Given the description of an element on the screen output the (x, y) to click on. 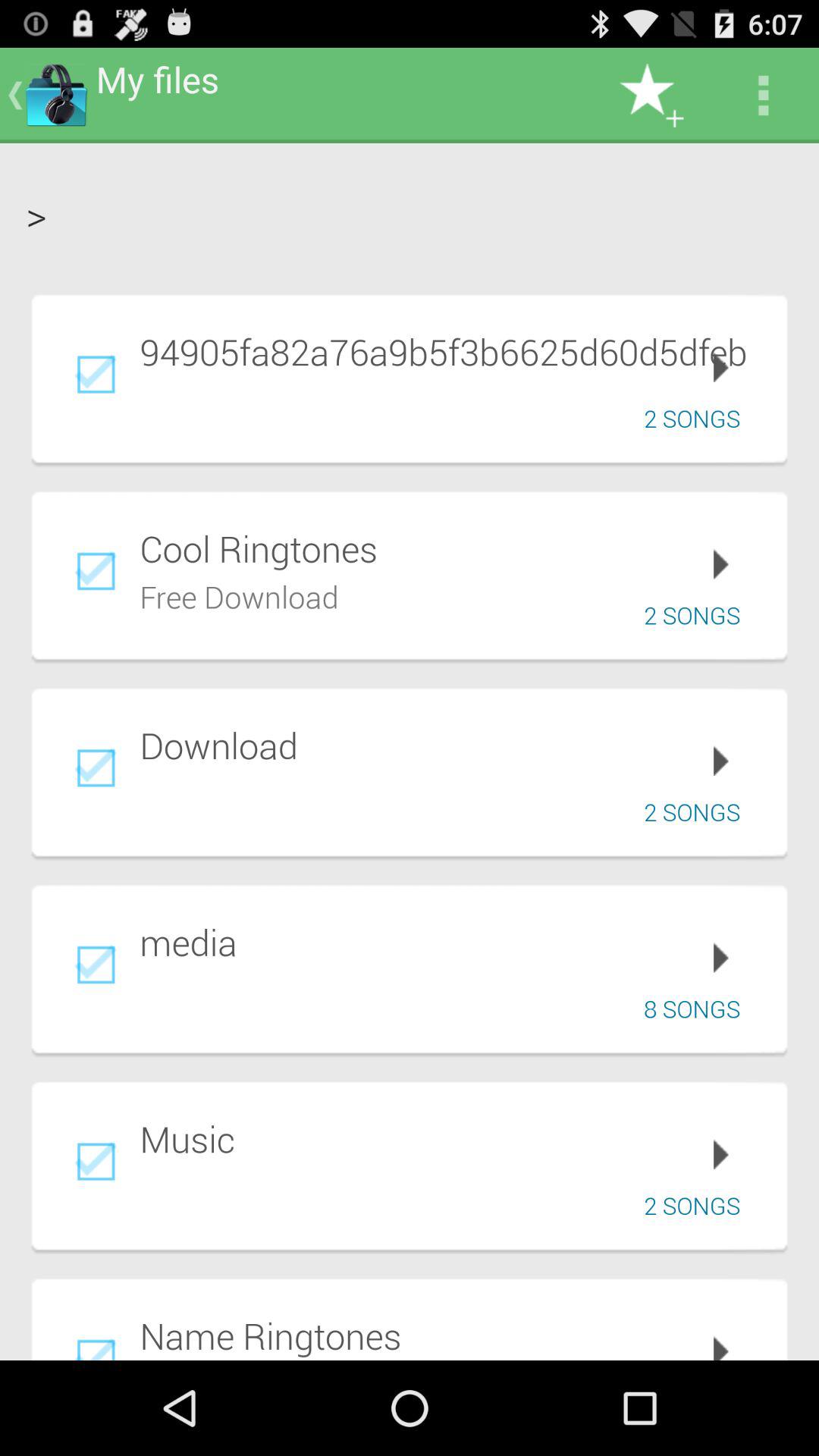
choose the icon below 2 songs (452, 548)
